Given the description of an element on the screen output the (x, y) to click on. 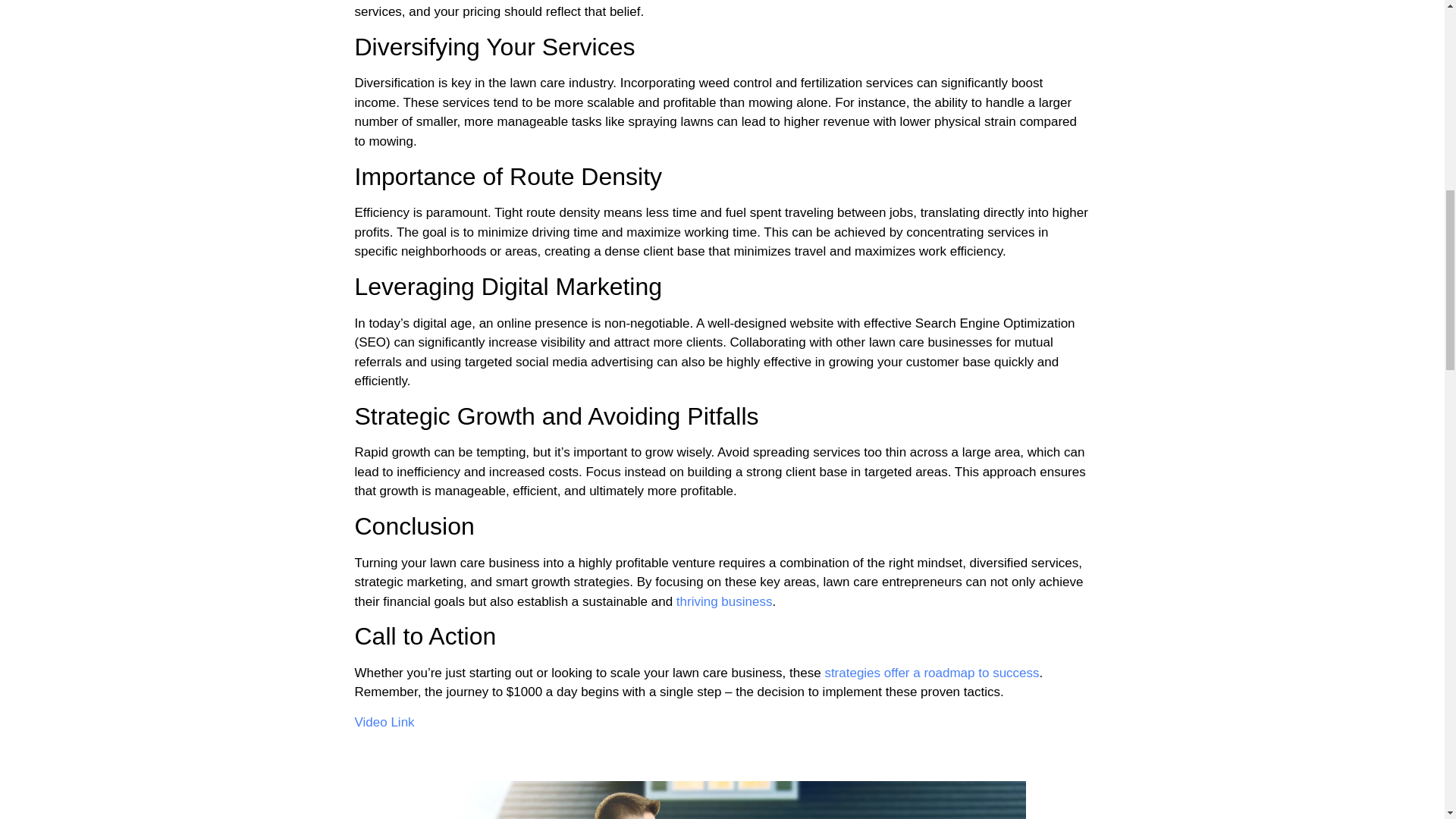
thriving business (725, 601)
strategies offer a roadmap to success (931, 672)
Video Link (384, 721)
